Given the description of an element on the screen output the (x, y) to click on. 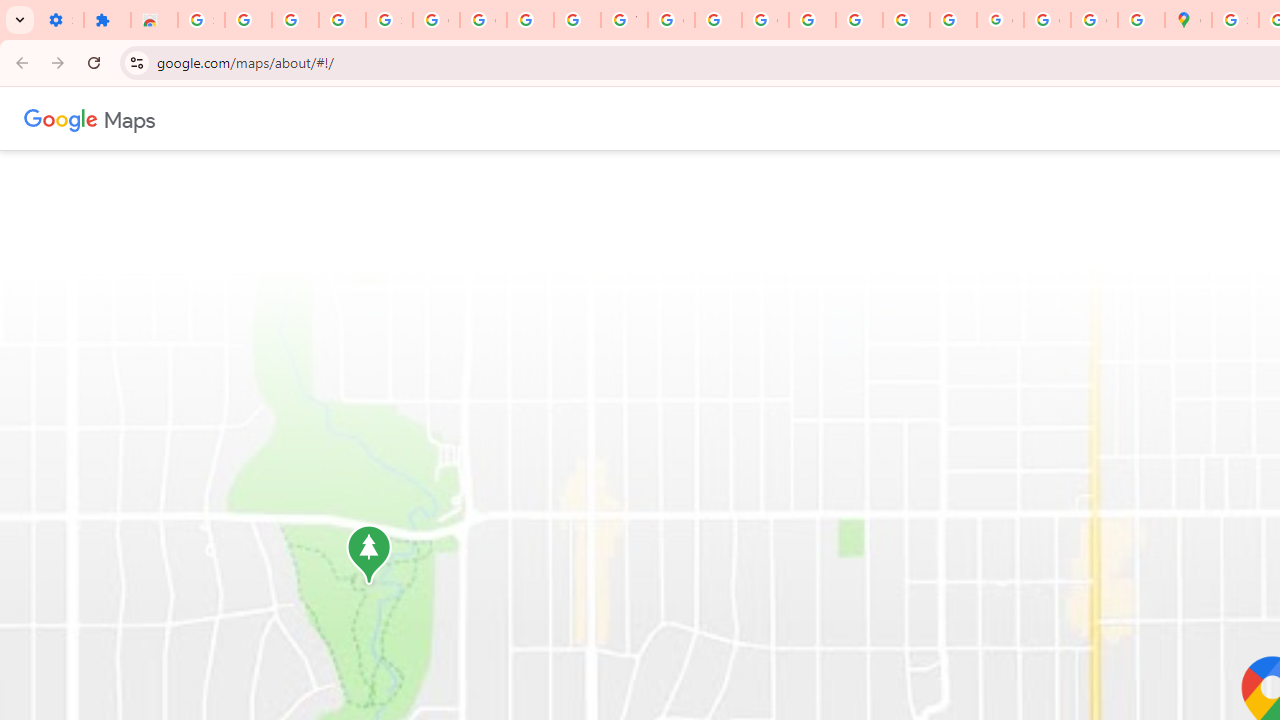
Reviews: Helix Fruit Jump Arcade Game (153, 20)
Privacy Help Center - Policies Help (811, 20)
Skip to Content (264, 115)
Sign in - Google Accounts (1235, 20)
